Given the description of an element on the screen output the (x, y) to click on. 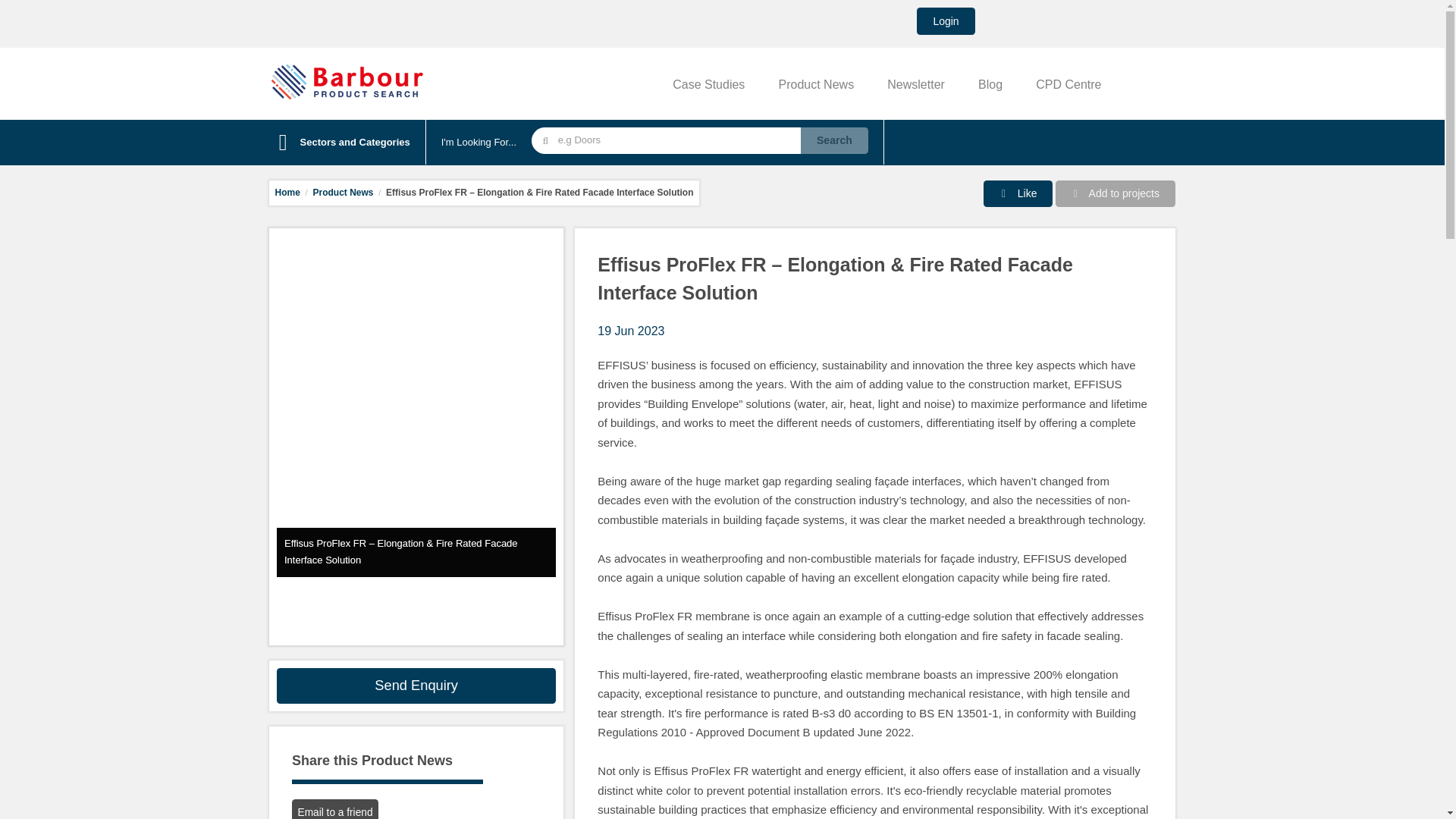
Case Studies (708, 83)
Blog (990, 83)
Sectors and Categories (339, 142)
Newsletter (915, 83)
CPD Centre (1067, 83)
Login (945, 21)
Product News (816, 83)
